Given the description of an element on the screen output the (x, y) to click on. 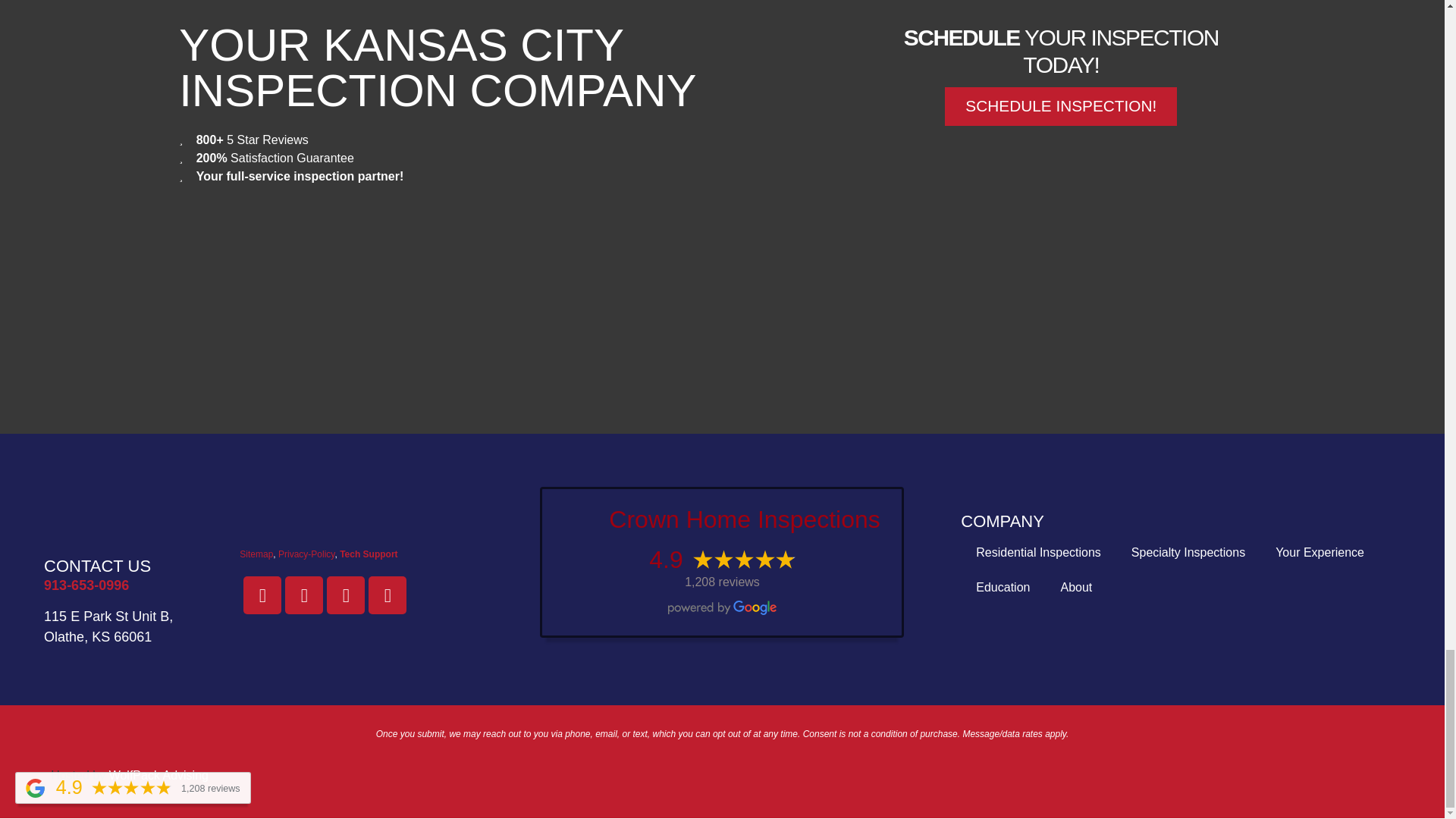
Powered by Google (722, 607)
